Given the description of an element on the screen output the (x, y) to click on. 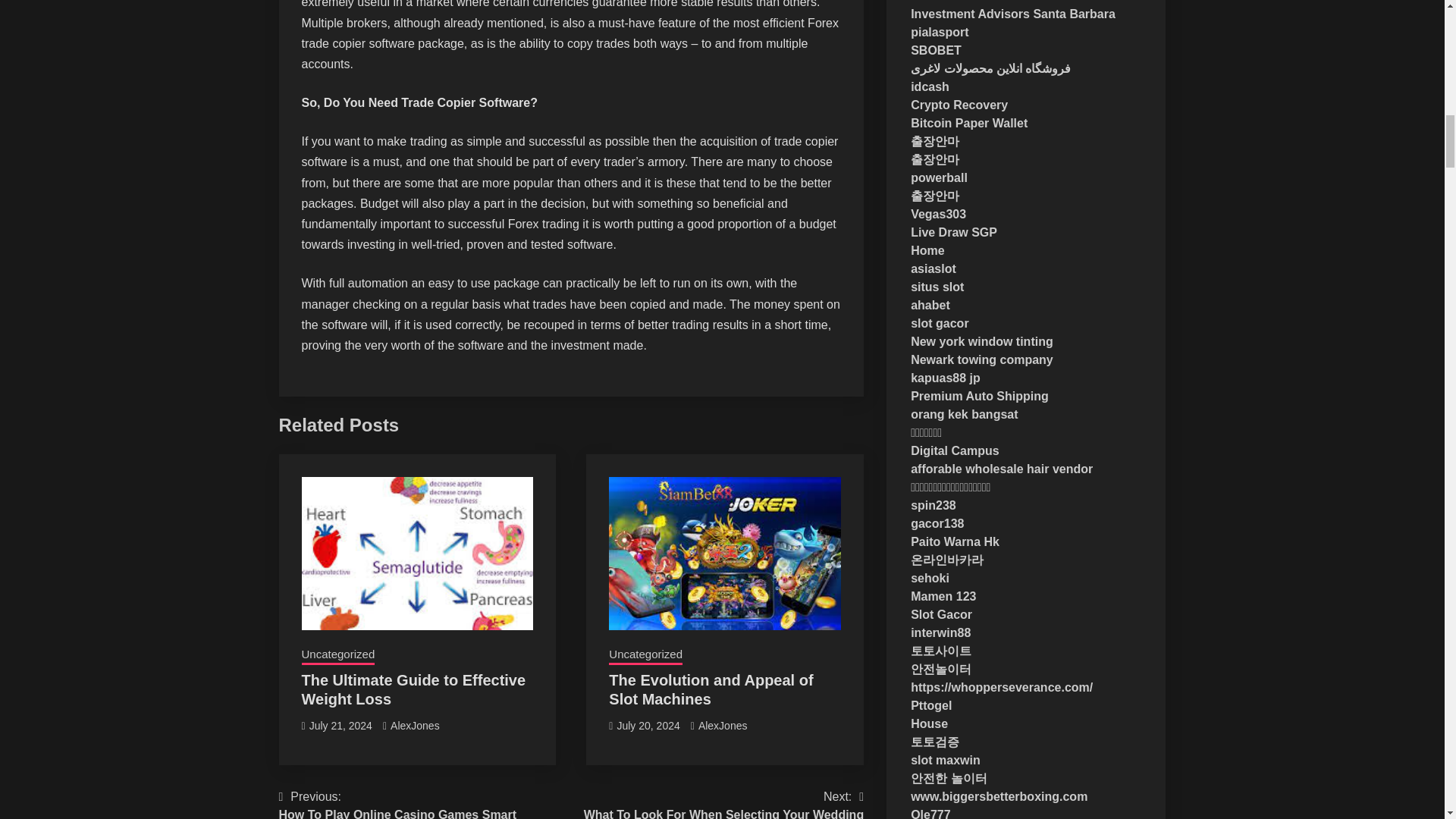
AlexJones (723, 725)
July 21, 2024 (340, 725)
Uncategorized (645, 655)
The Ultimate Guide to Effective Weight Loss (413, 689)
July 20, 2024 (397, 803)
The Evolution and Appeal of Slot Machines (647, 725)
Uncategorized (710, 689)
AlexJones (338, 655)
